Given the description of an element on the screen output the (x, y) to click on. 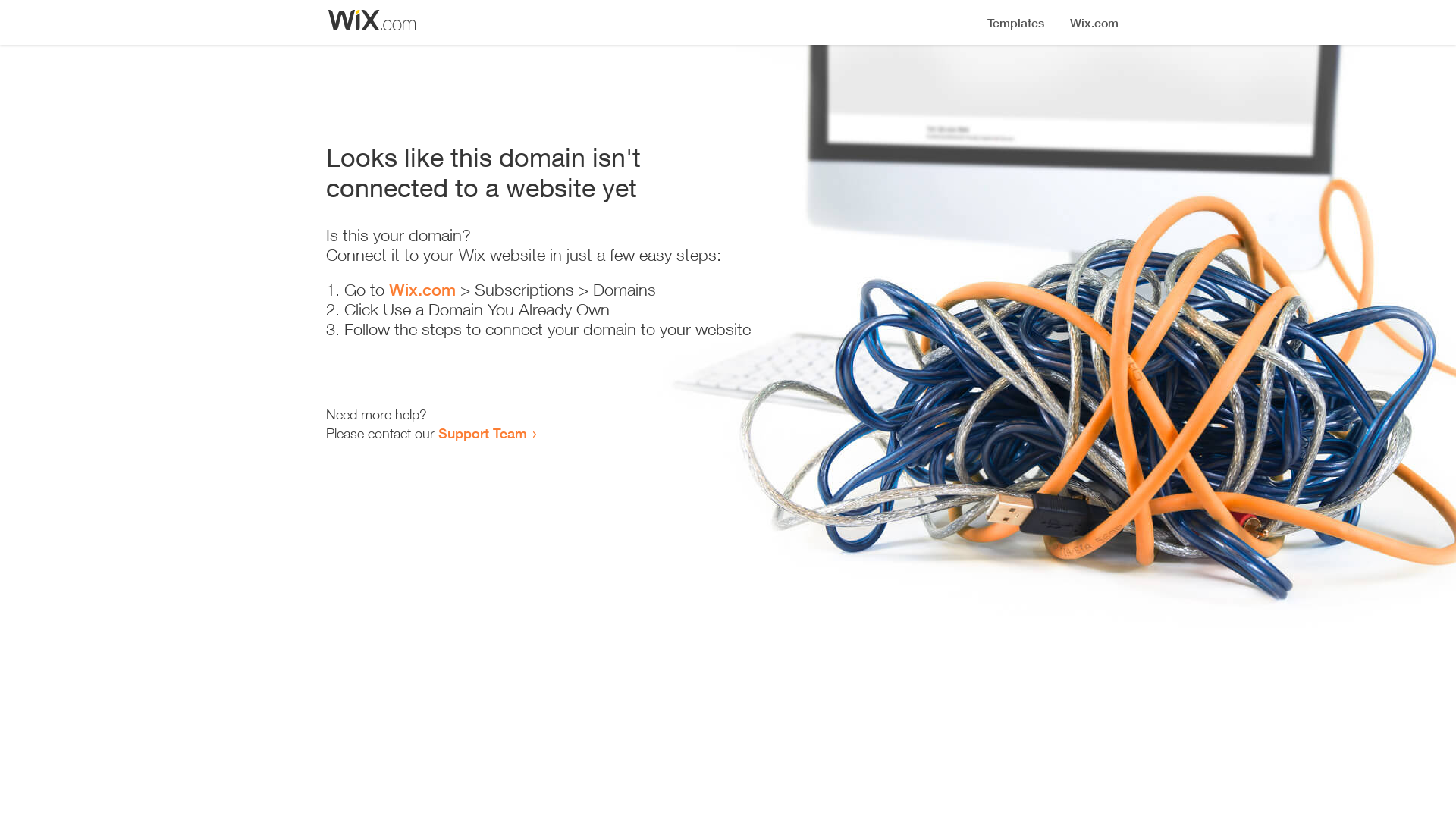
Support Team Element type: text (482, 432)
Wix.com Element type: text (422, 289)
